Given the description of an element on the screen output the (x, y) to click on. 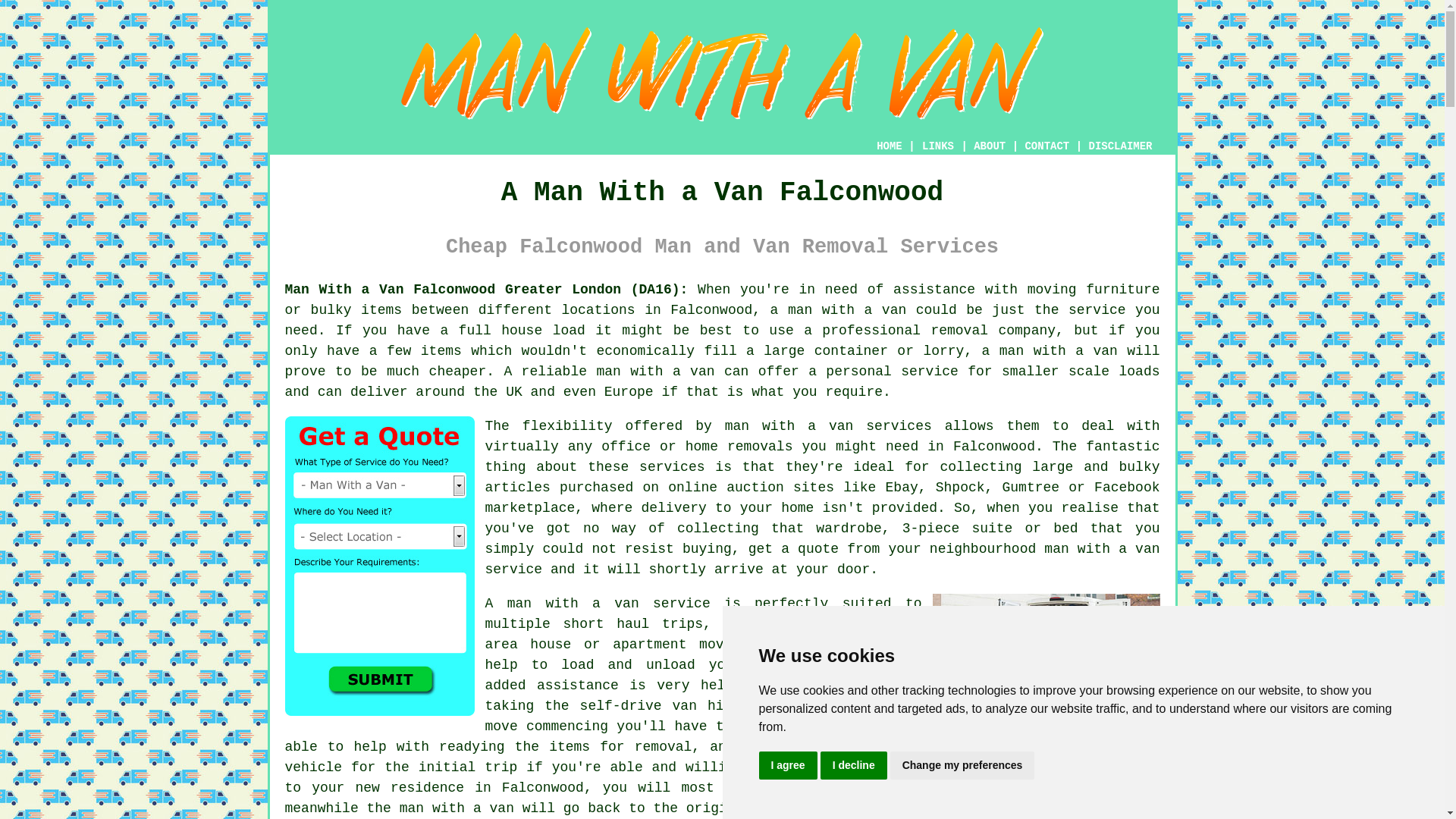
A Man With a Van Falconwood (722, 74)
HOME (889, 146)
man with a van (846, 309)
Man With a Van Falconwood (1046, 667)
Change my preferences (962, 765)
LINKS (938, 146)
I decline (853, 765)
A man with a van service (597, 603)
I agree (787, 765)
